Given the description of an element on the screen output the (x, y) to click on. 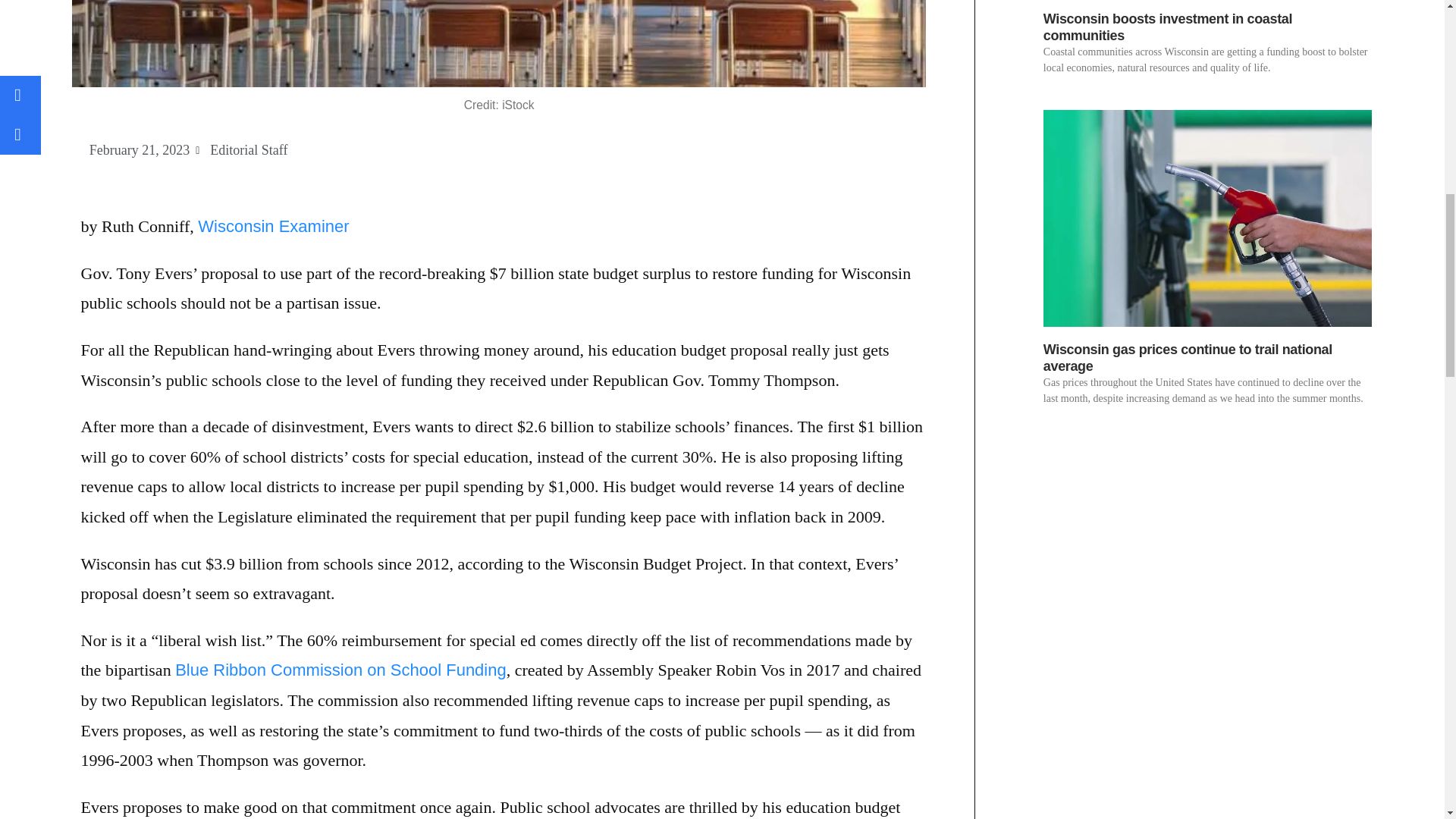
Wisconsin Examiner (273, 226)
Wisconsin boosts investment in coastal communities (1167, 27)
Blue Ribbon Commission on School Funding (340, 669)
Wisconsin gas prices continue to trail national average (1187, 357)
